Given the description of an element on the screen output the (x, y) to click on. 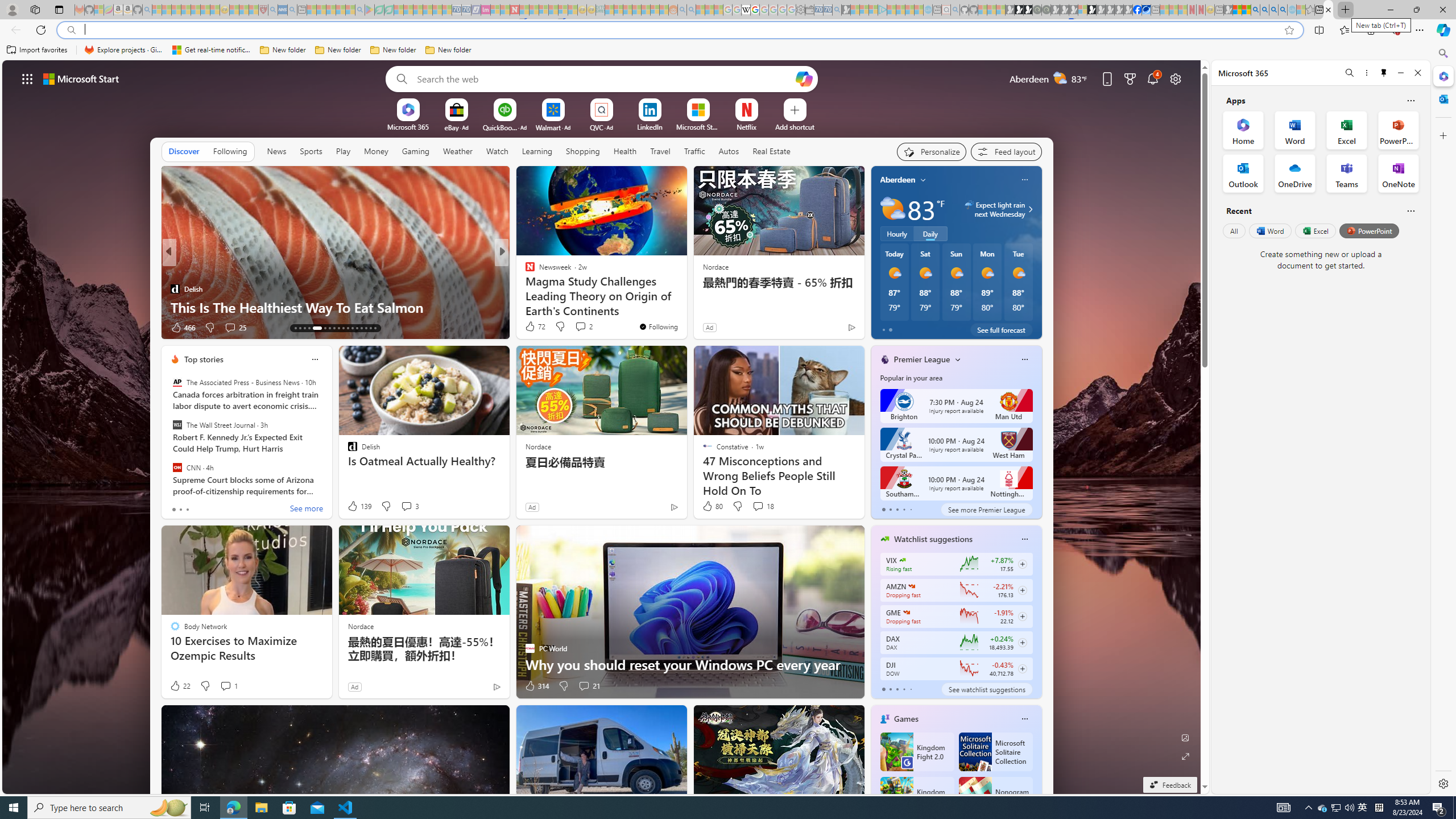
Unpin side pane (1383, 72)
Microsoft Solitaire Collection (995, 751)
OneNote Office App (1398, 172)
View comments 18 Comment (762, 505)
Bing Real Estate - Home sales and rental listings - Sleeping (836, 9)
All (1233, 230)
